Given the description of an element on the screen output the (x, y) to click on. 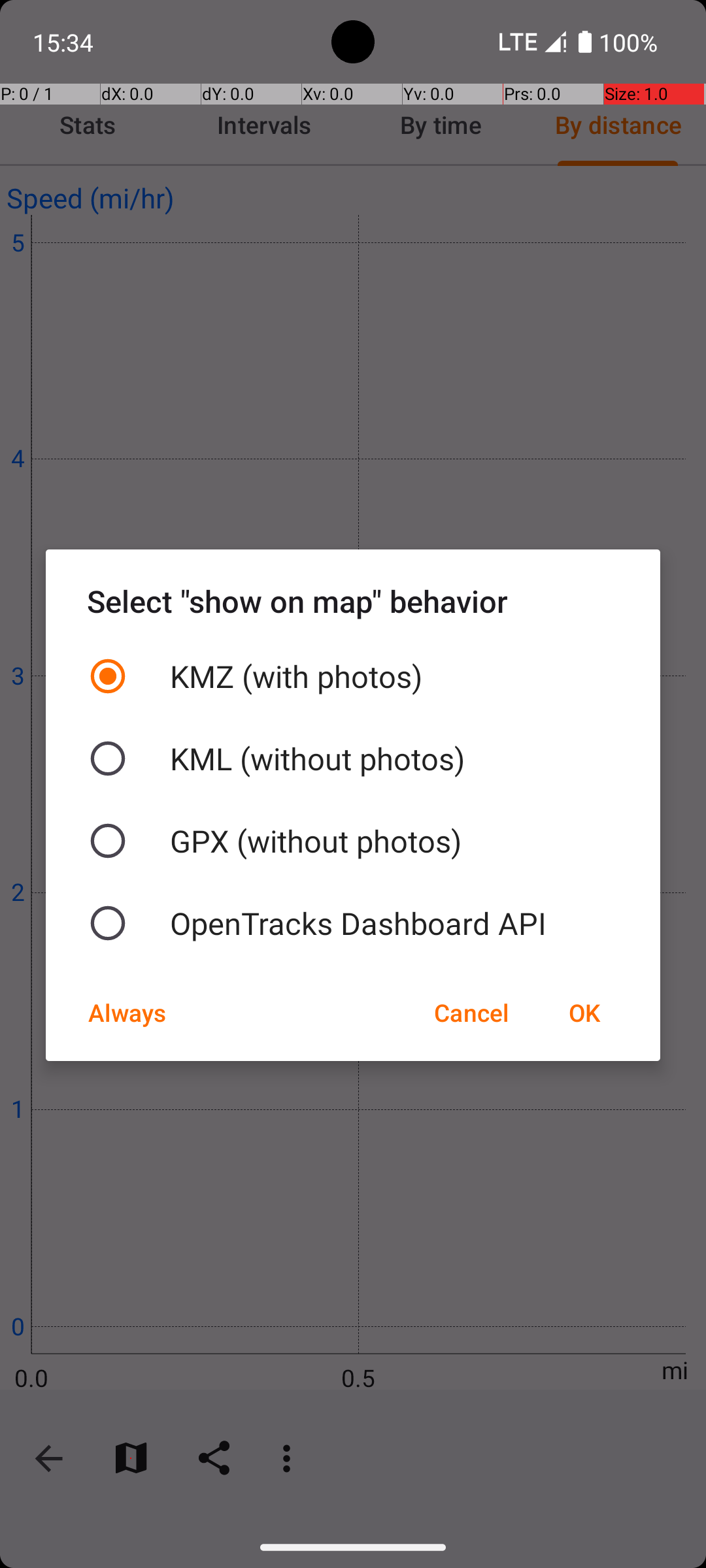
Select "show on map" behavior Element type: android.widget.TextView (352, 600)
KMZ (with photos) Element type: android.widget.CheckedTextView (352, 676)
KML (without photos) Element type: android.widget.CheckedTextView (352, 758)
GPX (without photos) Element type: android.widget.CheckedTextView (352, 840)
OpenTracks Dashboard API Element type: android.widget.CheckedTextView (352, 923)
